Given the description of an element on the screen output the (x, y) to click on. 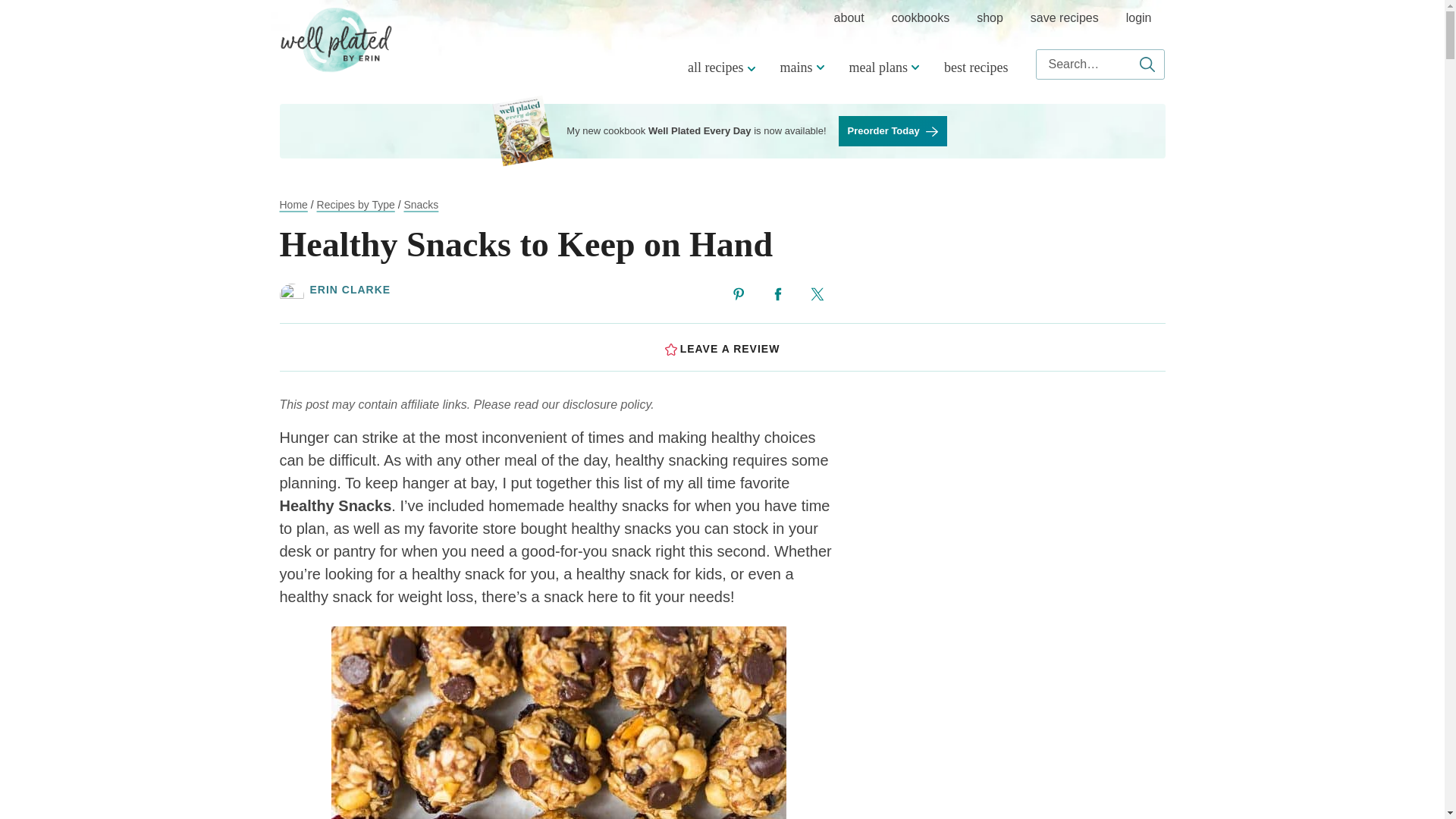
Search for (1099, 63)
all recipes (719, 67)
Share on Twitter (817, 294)
Share on Facebook (777, 294)
Well Plated by Erin (336, 39)
Share on Pinterest (738, 294)
